Given the description of an element on the screen output the (x, y) to click on. 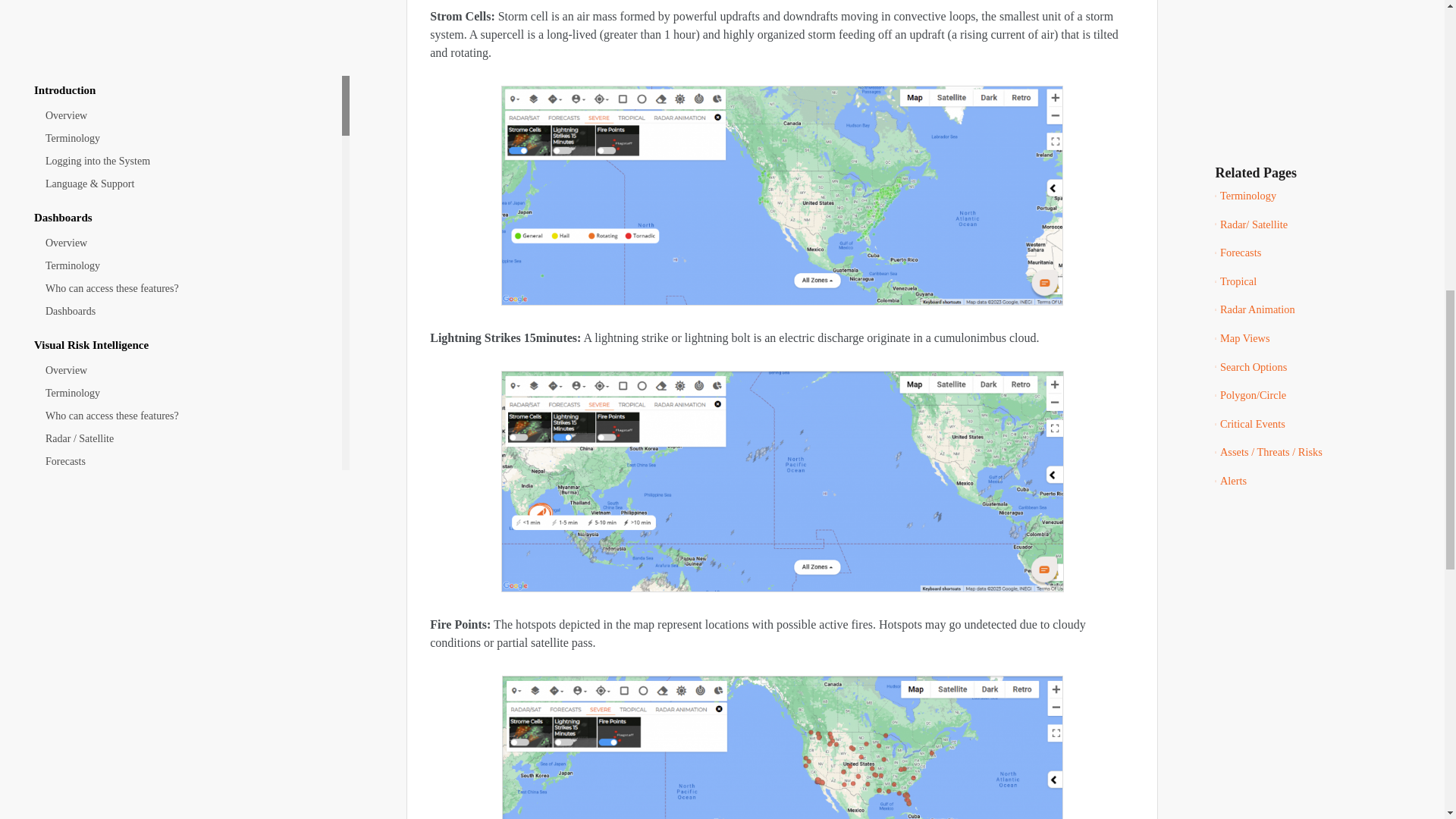
Radar Animation (176, 121)
Severe (176, 76)
Tropical (176, 98)
Search Options (176, 167)
Alerts (1326, 64)
Map Views (176, 144)
 Critical Events (1326, 8)
Who can access these features? (176, 9)
Forecasts (176, 53)
Critical Events (176, 212)
